Given the description of an element on the screen output the (x, y) to click on. 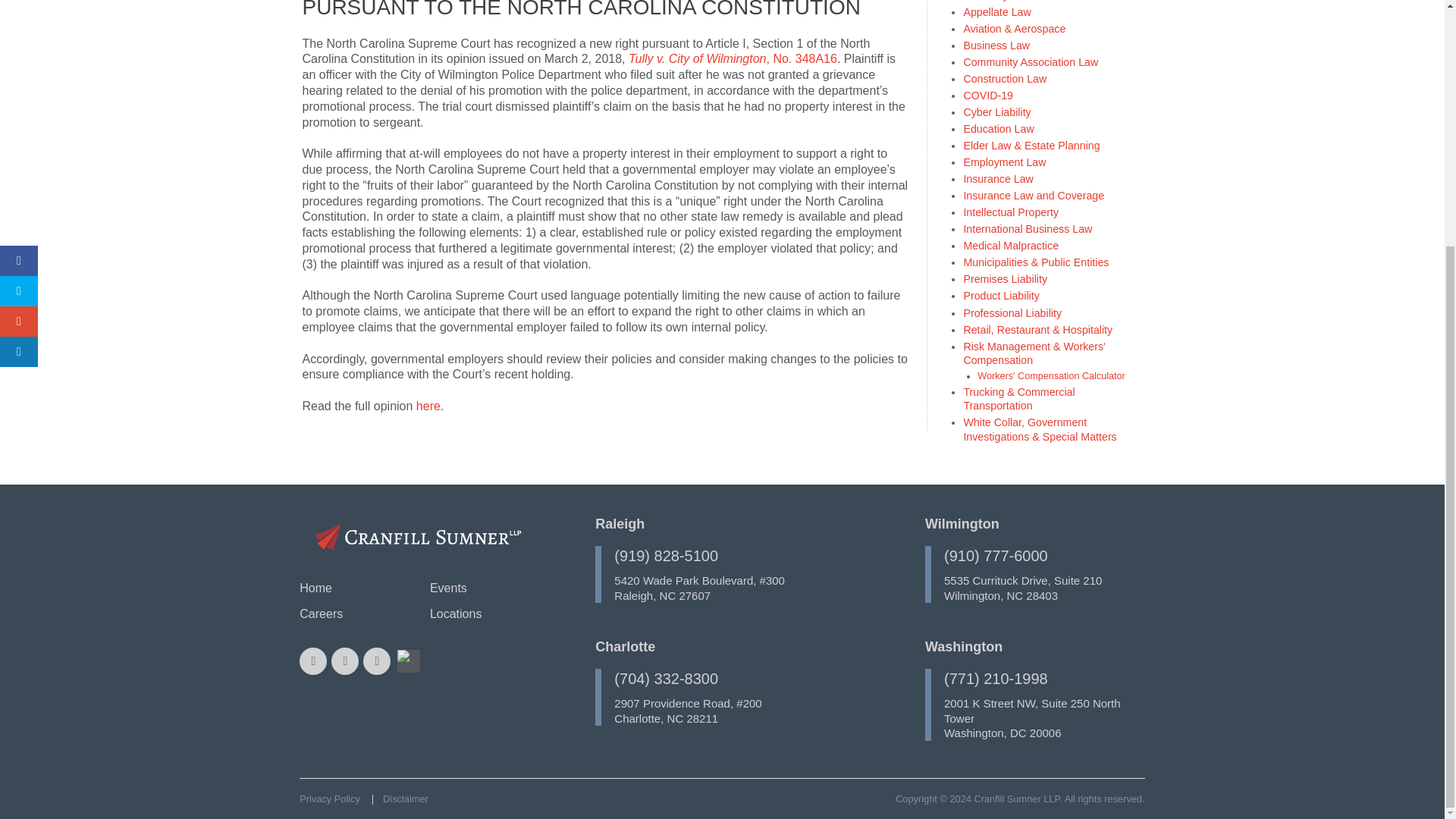
here (428, 405)
Tully v. City of Wilmington, No. 348A16 (732, 58)
Appellate Law (996, 11)
